Given the description of an element on the screen output the (x, y) to click on. 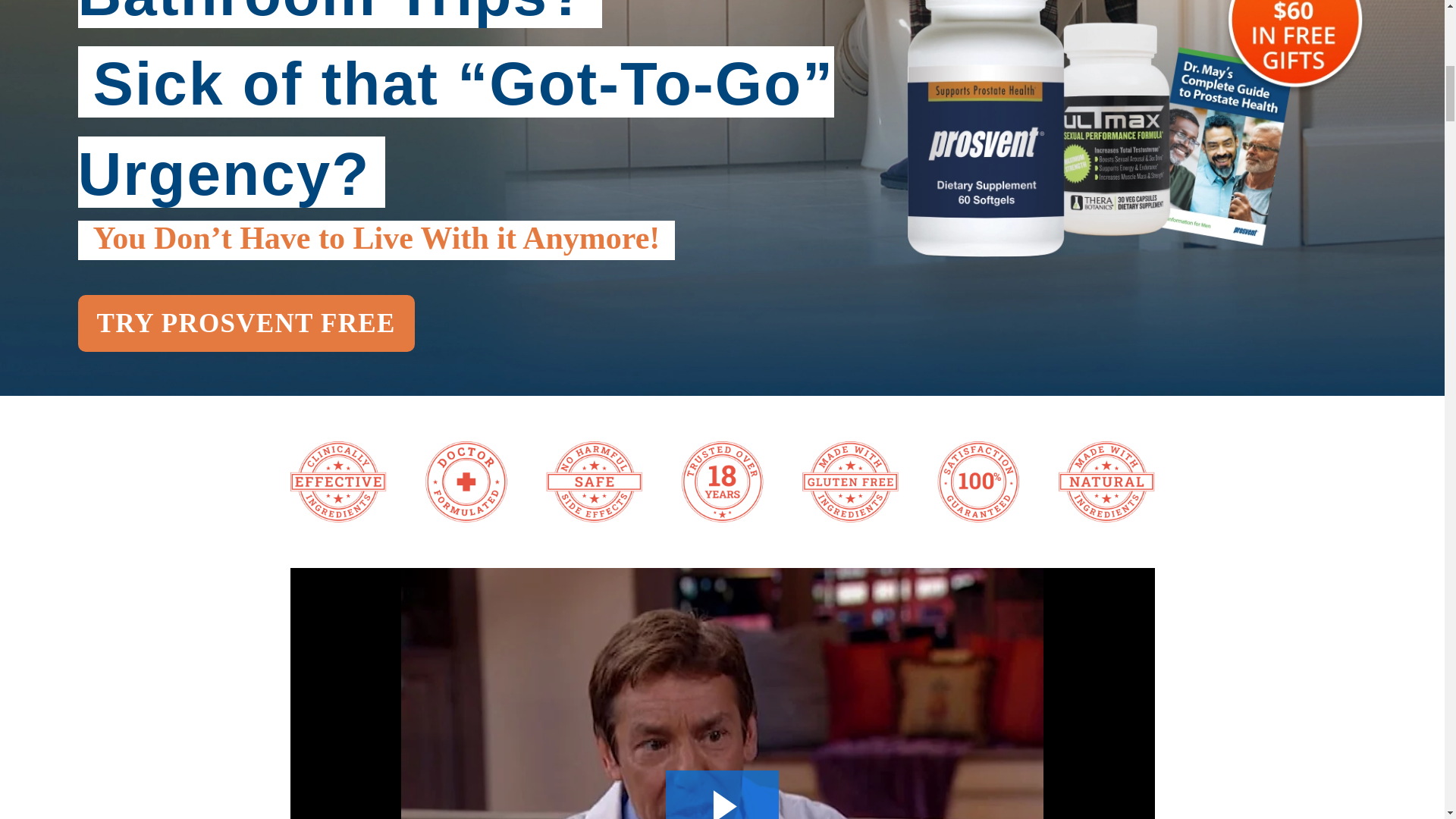
TRY PROSVENT FREE (245, 323)
